Given the description of an element on the screen output the (x, y) to click on. 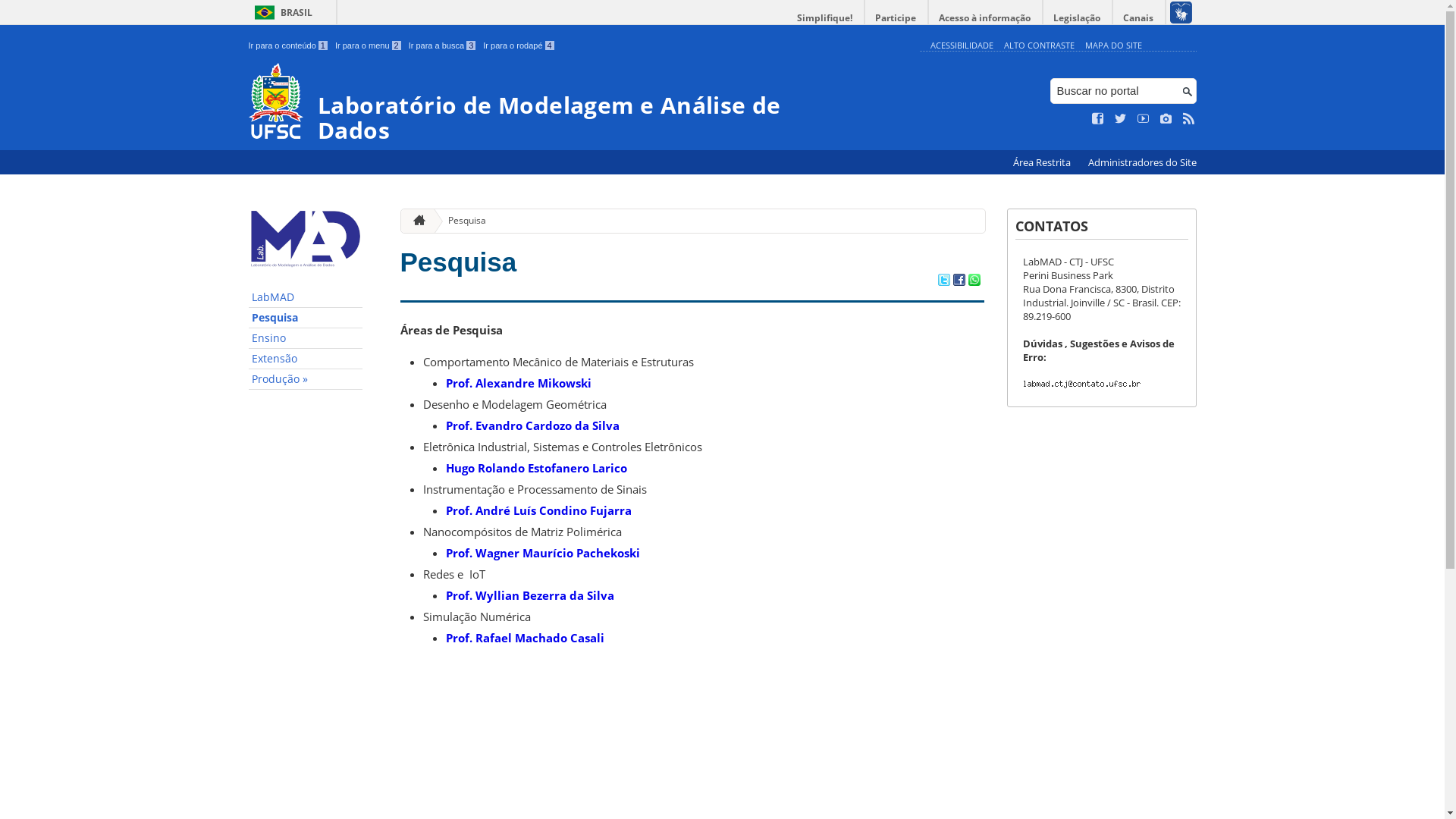
Prof. R Element type: text (464, 637)
Ir para o menu 2 Element type: text (368, 45)
afael Machado Casali Element type: text (542, 637)
Compartilhar no WhatsApp Element type: hover (973, 280)
Hugo Rolando Estofanero Larico Element type: text (536, 467)
Prof. Evandro Cardozo da Silva Element type: text (532, 425)
Canais Element type: text (1138, 18)
Pesquisa Element type: text (460, 220)
Curta no Facebook Element type: hover (1098, 118)
Prof. Wyllian Bezerra da Silva Element type: text (529, 594)
Participe Element type: text (895, 18)
ACESSIBILIDADE Element type: text (960, 44)
Pesquisa Element type: text (305, 317)
Prof. Alexandre Mikowski Element type: text (518, 382)
MAPA DO SITE Element type: text (1112, 44)
Administradores do Site Element type: text (1141, 162)
Pesquisa Element type: text (458, 261)
LabMAD Element type: text (305, 297)
Simplifique! Element type: text (825, 18)
Ir para a busca 3 Element type: text (442, 45)
BRASIL Element type: text (280, 12)
Siga no Twitter Element type: hover (1120, 118)
Compartilhar no Twitter Element type: hover (943, 280)
Ensino Element type: text (305, 338)
Veja no Instagram Element type: hover (1166, 118)
ALTO CONTRASTE Element type: text (1039, 44)
Compartilhar no Facebook Element type: hover (958, 280)
